Given the description of an element on the screen output the (x, y) to click on. 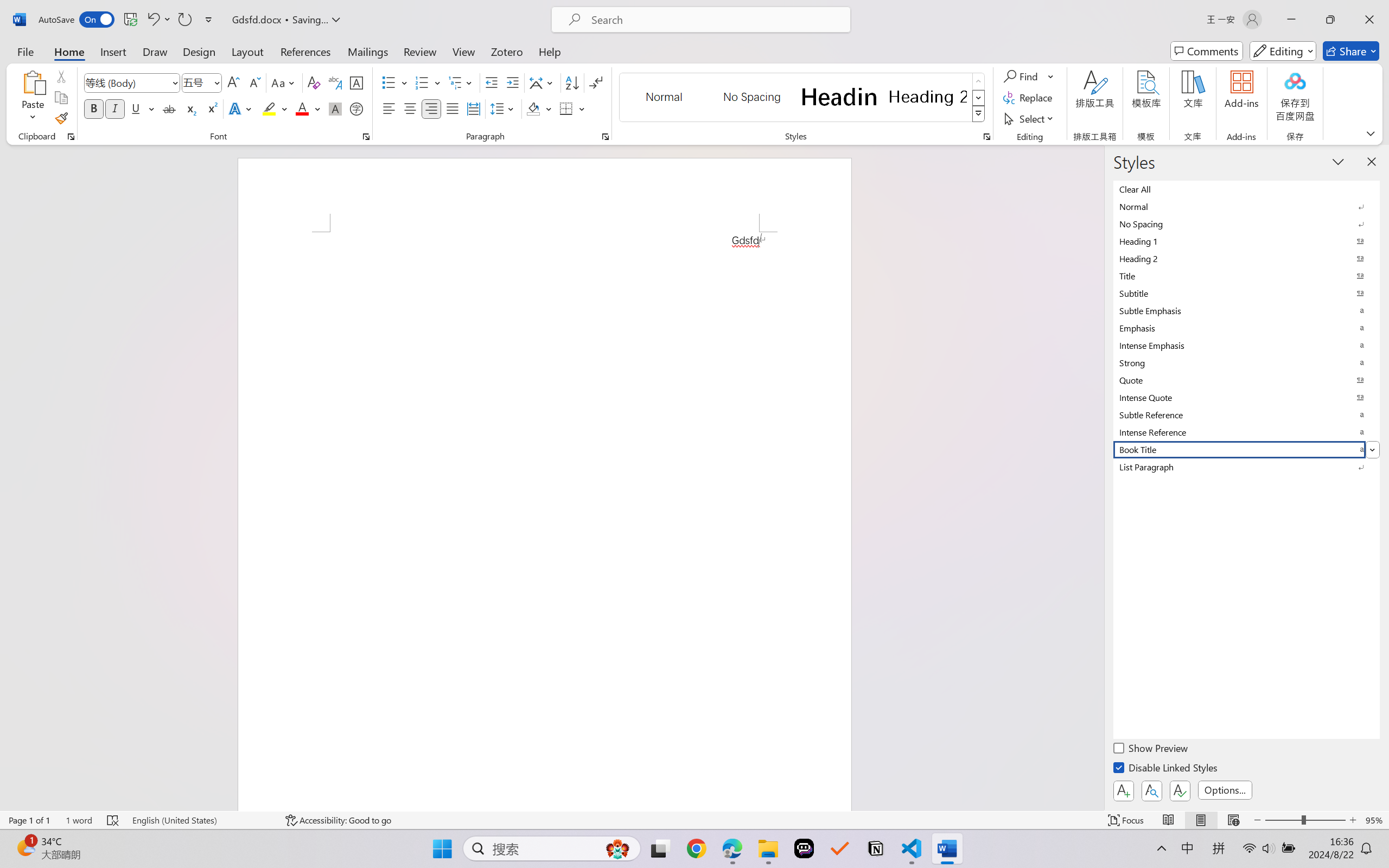
Task Pane Options (1338, 161)
Subscript (190, 108)
Copy (60, 97)
Class: NetUIButton (1179, 790)
Row up (978, 81)
Emphasis (1246, 327)
